Given the description of an element on the screen output the (x, y) to click on. 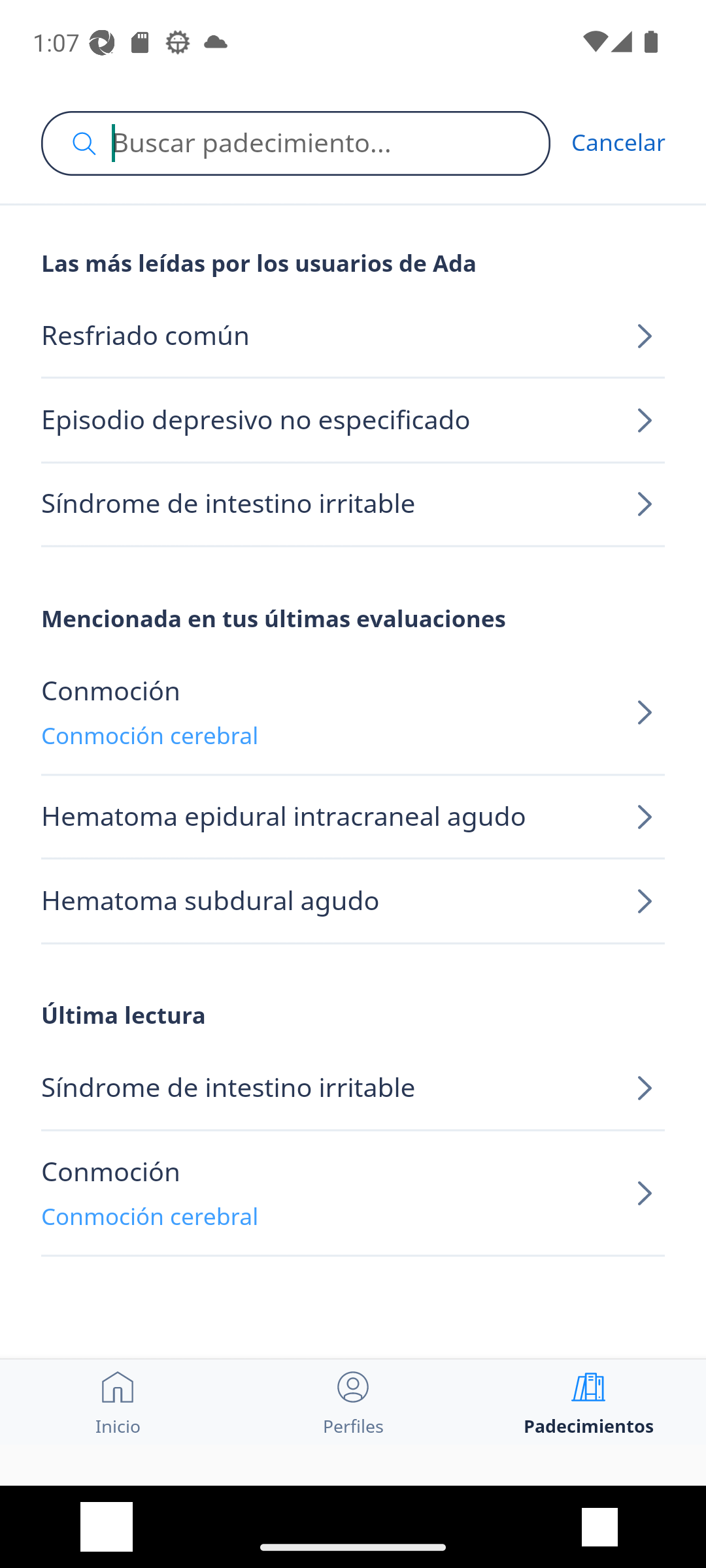
Buscar padecimiento... (295, 143)
Cancelar (618, 142)
Resfriado común (352, 335)
Episodio depresivo no especificado (352, 420)
Síndrome de intestino irritable (352, 504)
Conmoción Conmoción cerebral (352, 713)
Hematoma epidural intracraneal agudo (352, 817)
Hematoma subdural agudo (352, 901)
Síndrome de intestino irritable (352, 1088)
Conmoción Conmoción cerebral (352, 1192)
Inicio (117, 1401)
Perfiles (352, 1401)
Padecimientos (588, 1401)
